Given the description of an element on the screen output the (x, y) to click on. 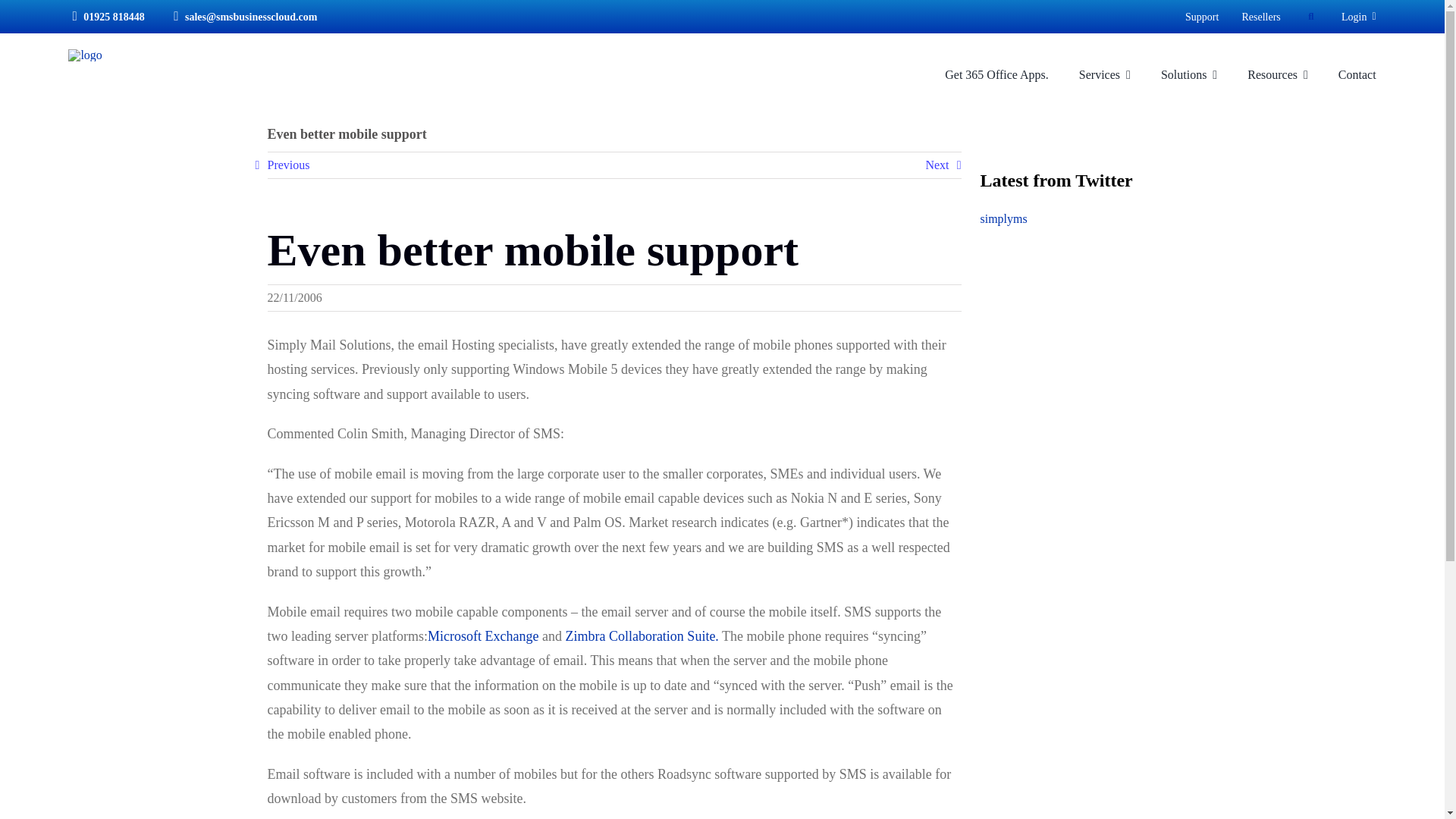
Support (1201, 15)
Resellers (1260, 15)
Login (1357, 15)
01925 818448 (104, 15)
Logo dark - SMS (84, 55)
